Given the description of an element on the screen output the (x, y) to click on. 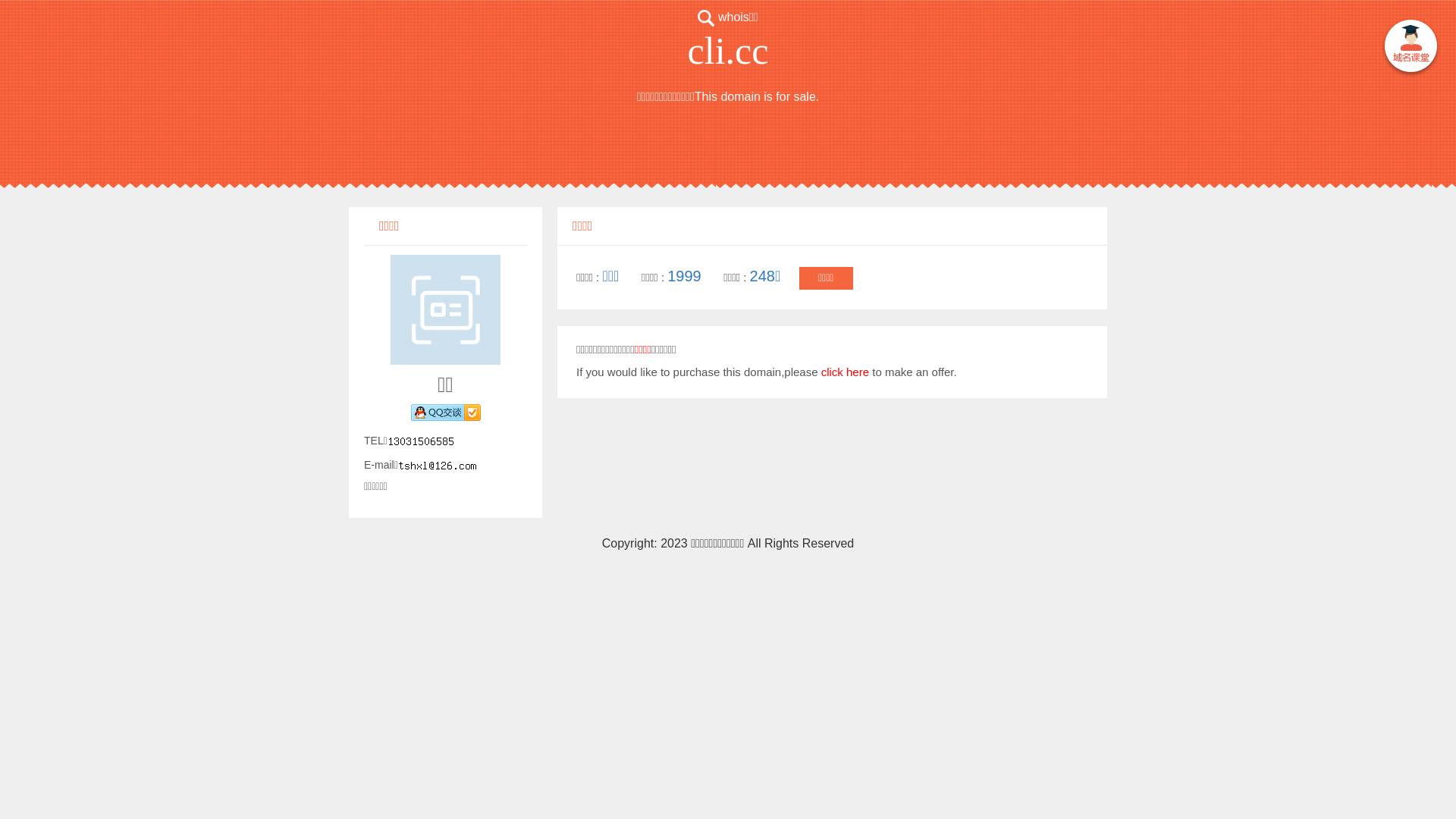
  Element type: text (1410, 48)
click here Element type: text (845, 371)
